Given the description of an element on the screen output the (x, y) to click on. 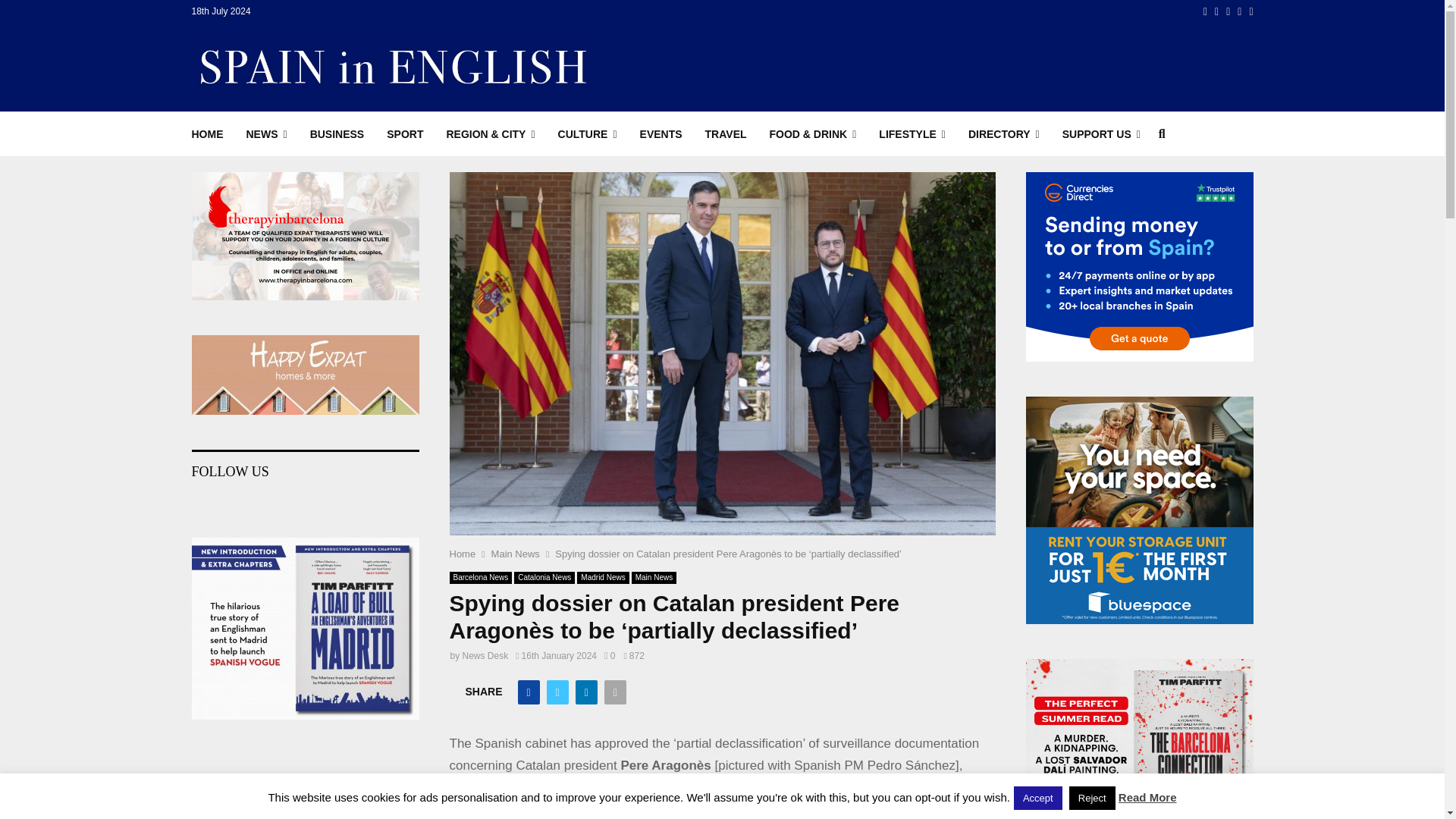
Instagram (1227, 11)
Twitter (1216, 11)
CULTURE (587, 134)
Facebook (1205, 11)
Facebook (1205, 11)
Instagram (1227, 11)
EVENTS (661, 134)
HOME (206, 134)
Youtube (1250, 11)
Login to your account (722, 293)
TRAVEL (725, 134)
Linkedin (1239, 11)
Linkedin (1239, 11)
Sign up new account (722, 527)
LIFESTYLE (911, 134)
